Given the description of an element on the screen output the (x, y) to click on. 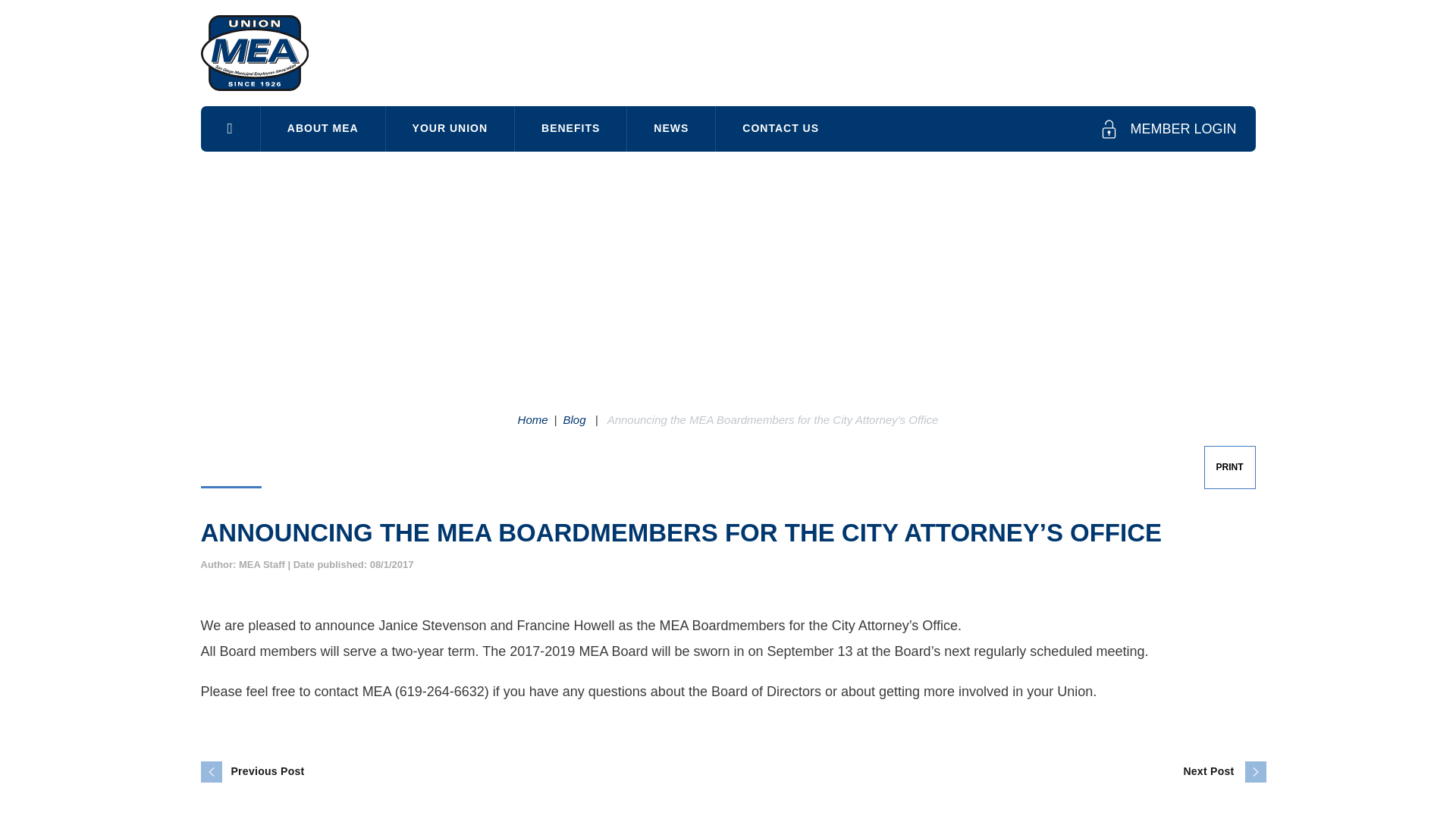
CONTACT US (780, 128)
home (229, 128)
YOUR UNION (449, 128)
ABOUT MEA (322, 128)
PRINT (1229, 466)
Home (533, 419)
Previous Post (252, 771)
BENEFITS (570, 128)
MEMBER LOGIN (1167, 128)
NEWS (670, 128)
